Given the description of an element on the screen output the (x, y) to click on. 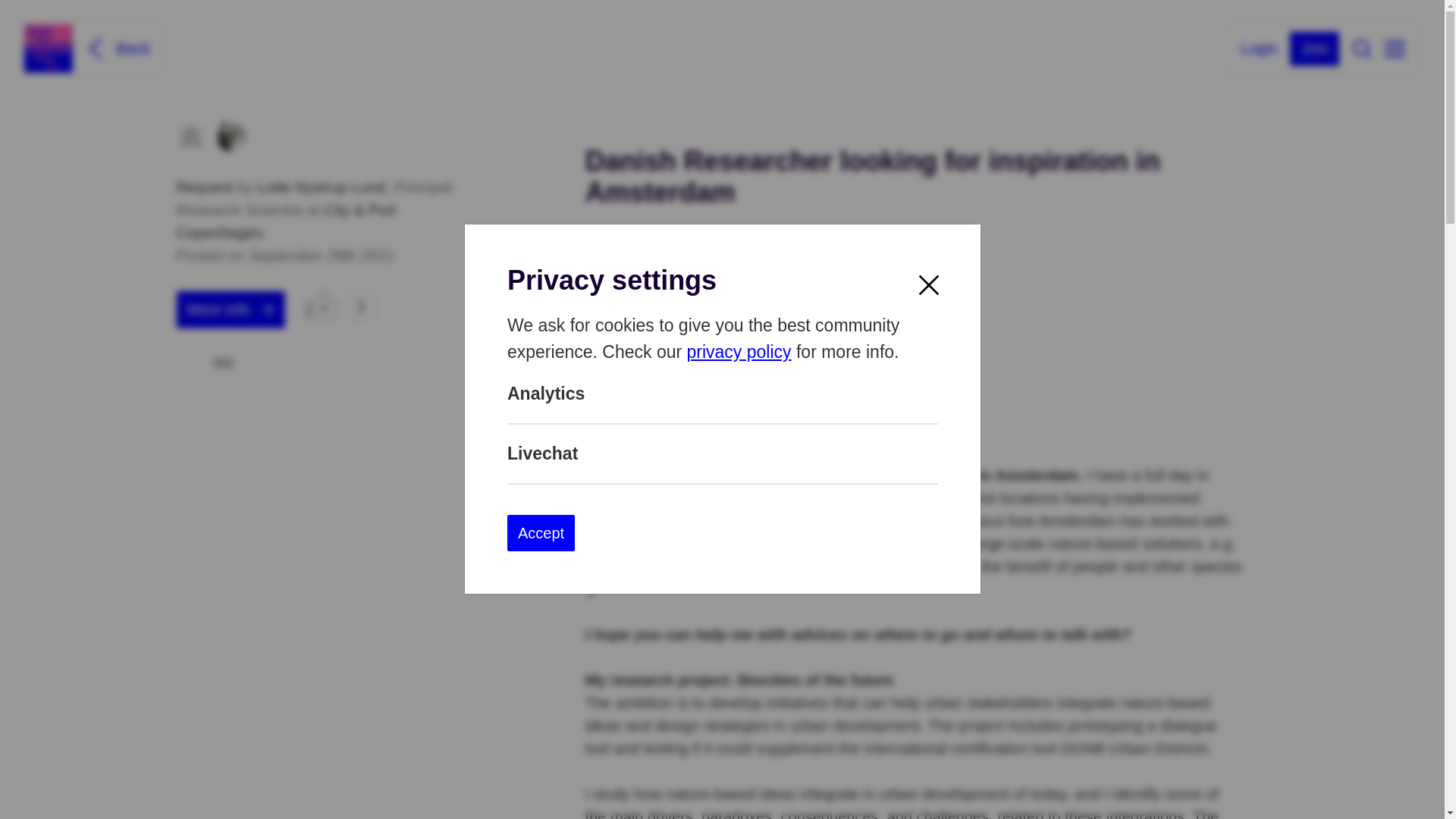
Login (1259, 47)
Register (1314, 48)
Join (1314, 48)
Copy link to clipboard (222, 362)
Lotte Nystrup Lund (321, 187)
Open menu (1394, 48)
Back (115, 48)
More info (229, 309)
Search (1362, 47)
0 people liked this (321, 304)
